Given the description of an element on the screen output the (x, y) to click on. 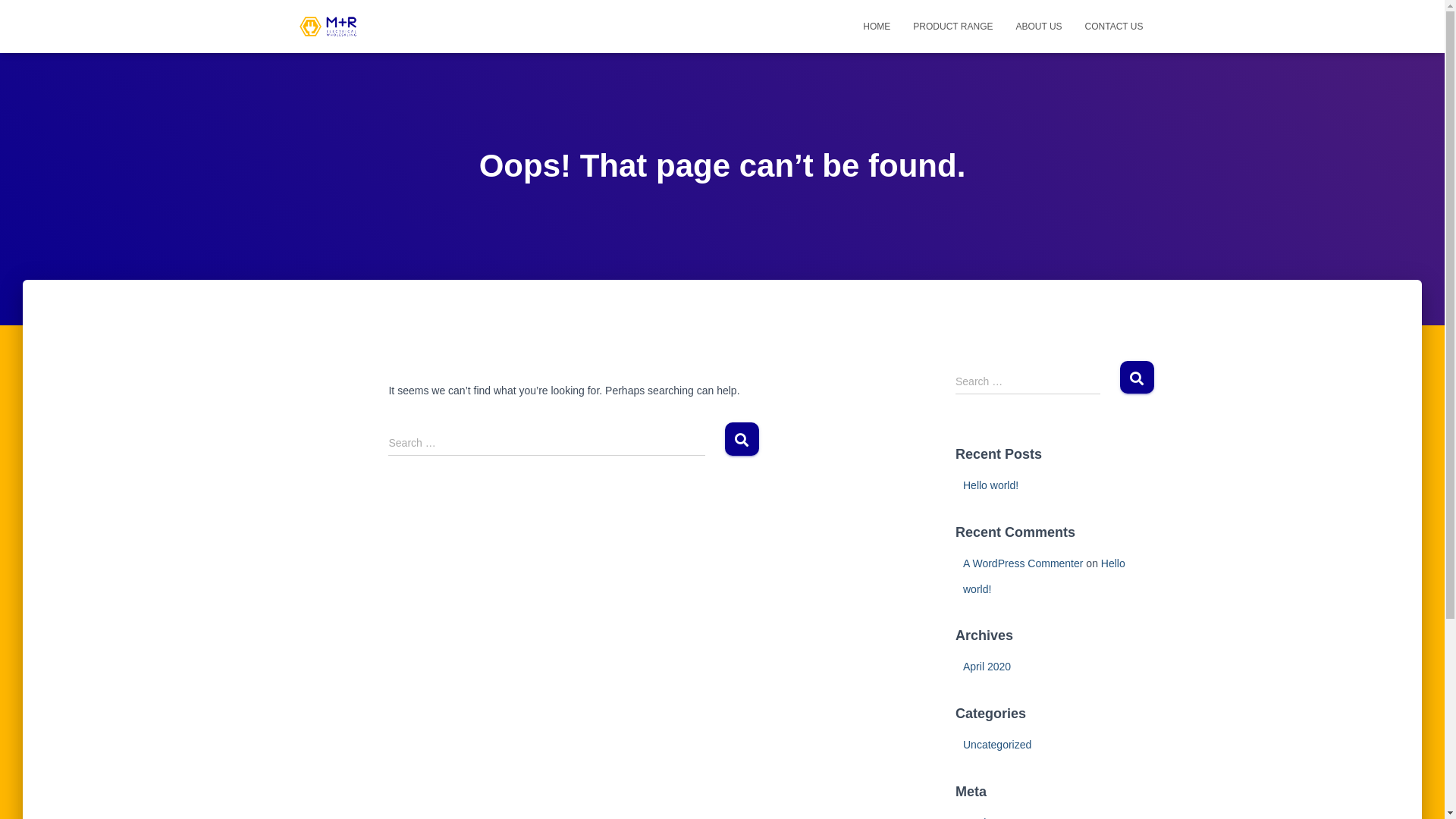
PRODUCT RANGE Element type: text (952, 26)
April 2020 Element type: text (986, 666)
Search Element type: text (741, 438)
CONTACT US Element type: text (1113, 26)
Search Element type: text (1136, 376)
Uncategorized Element type: text (997, 744)
M+R Electrical Wholesaling Element type: hover (328, 26)
A WordPress Commenter Element type: text (1022, 563)
HOME Element type: text (876, 26)
Hello world! Element type: text (990, 485)
Hello world! Element type: text (1044, 576)
ABOUT US Element type: text (1038, 26)
